Given the description of an element on the screen output the (x, y) to click on. 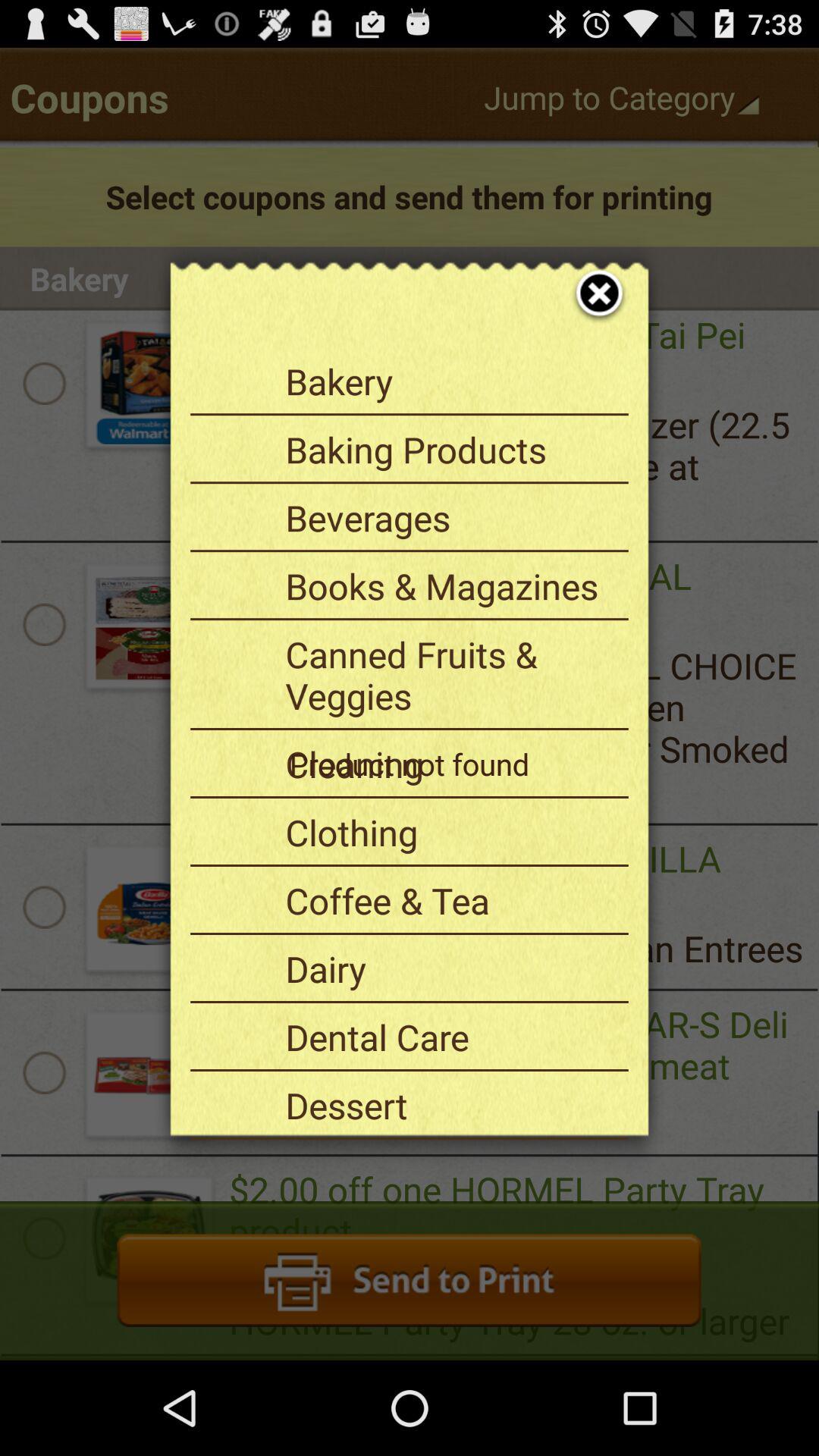
scroll until the dessert app (451, 1104)
